Given the description of an element on the screen output the (x, y) to click on. 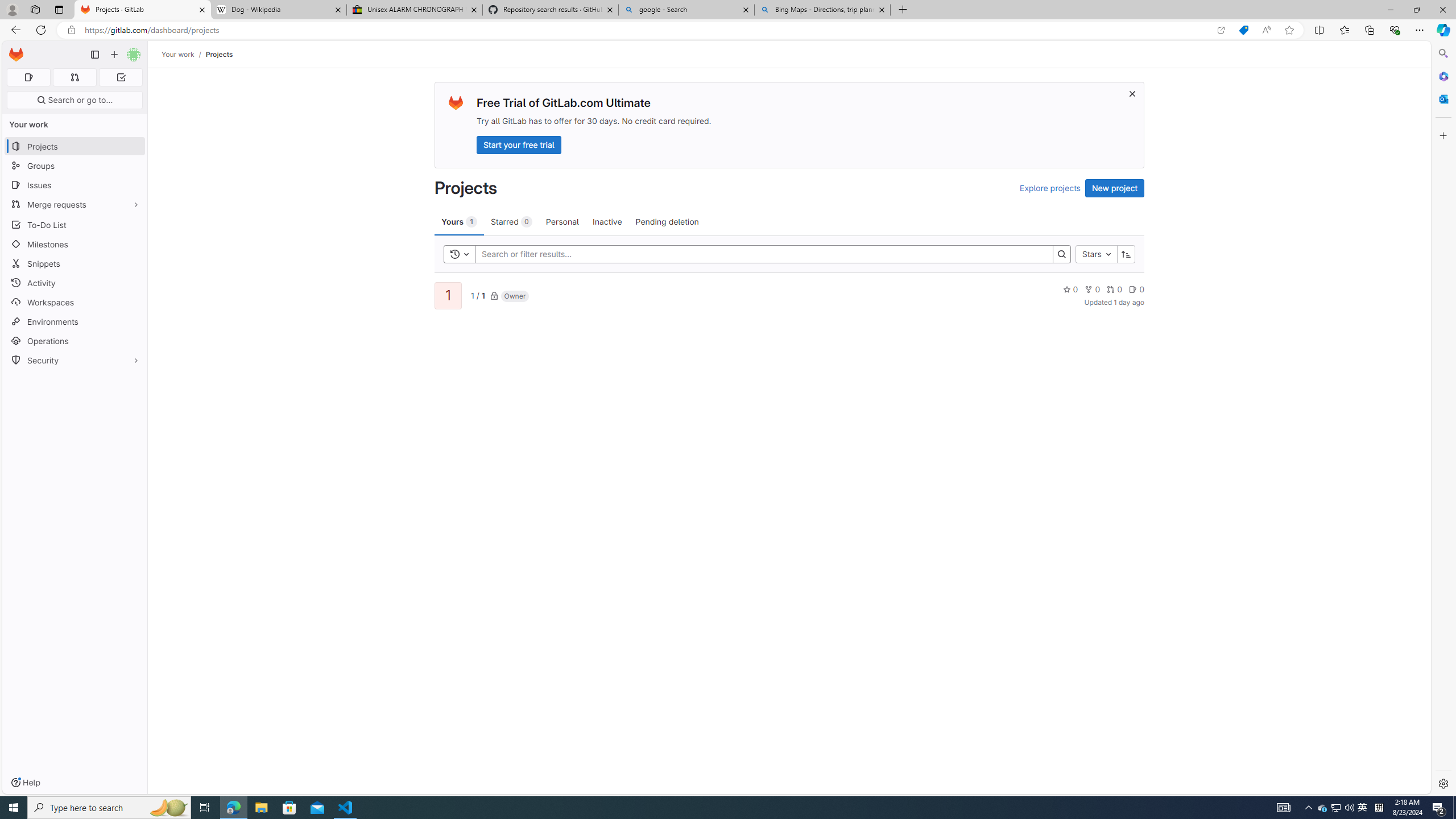
Issues (74, 185)
Dog - Wikipedia (277, 9)
Snippets (74, 262)
New project (1114, 187)
Your work/ (183, 53)
